Given the description of an element on the screen output the (x, y) to click on. 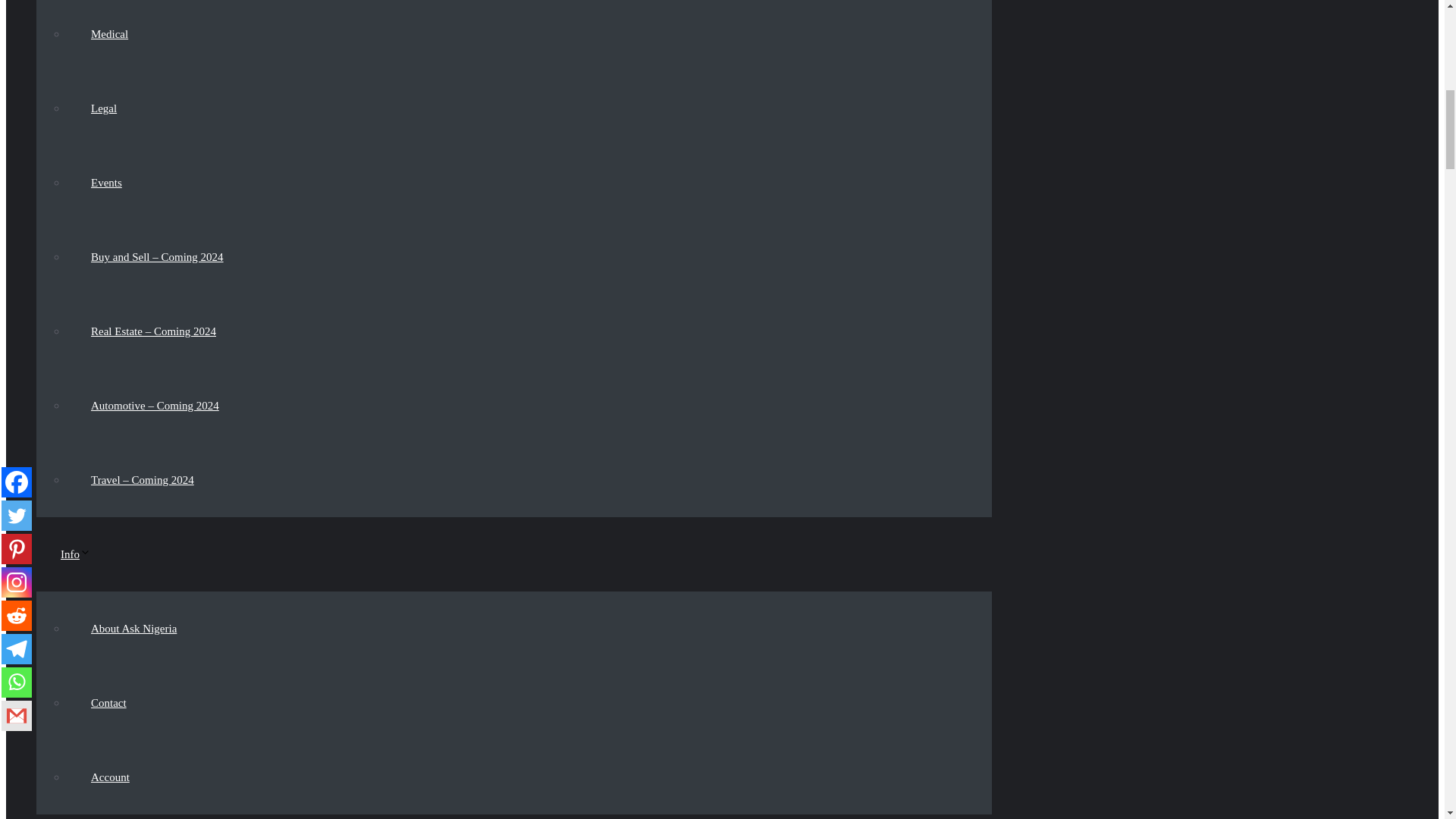
Events (106, 182)
Legal (103, 108)
Info (87, 553)
Account (110, 777)
Medical (109, 33)
Contact (108, 702)
About Ask Nigeria (133, 628)
